Given the description of an element on the screen output the (x, y) to click on. 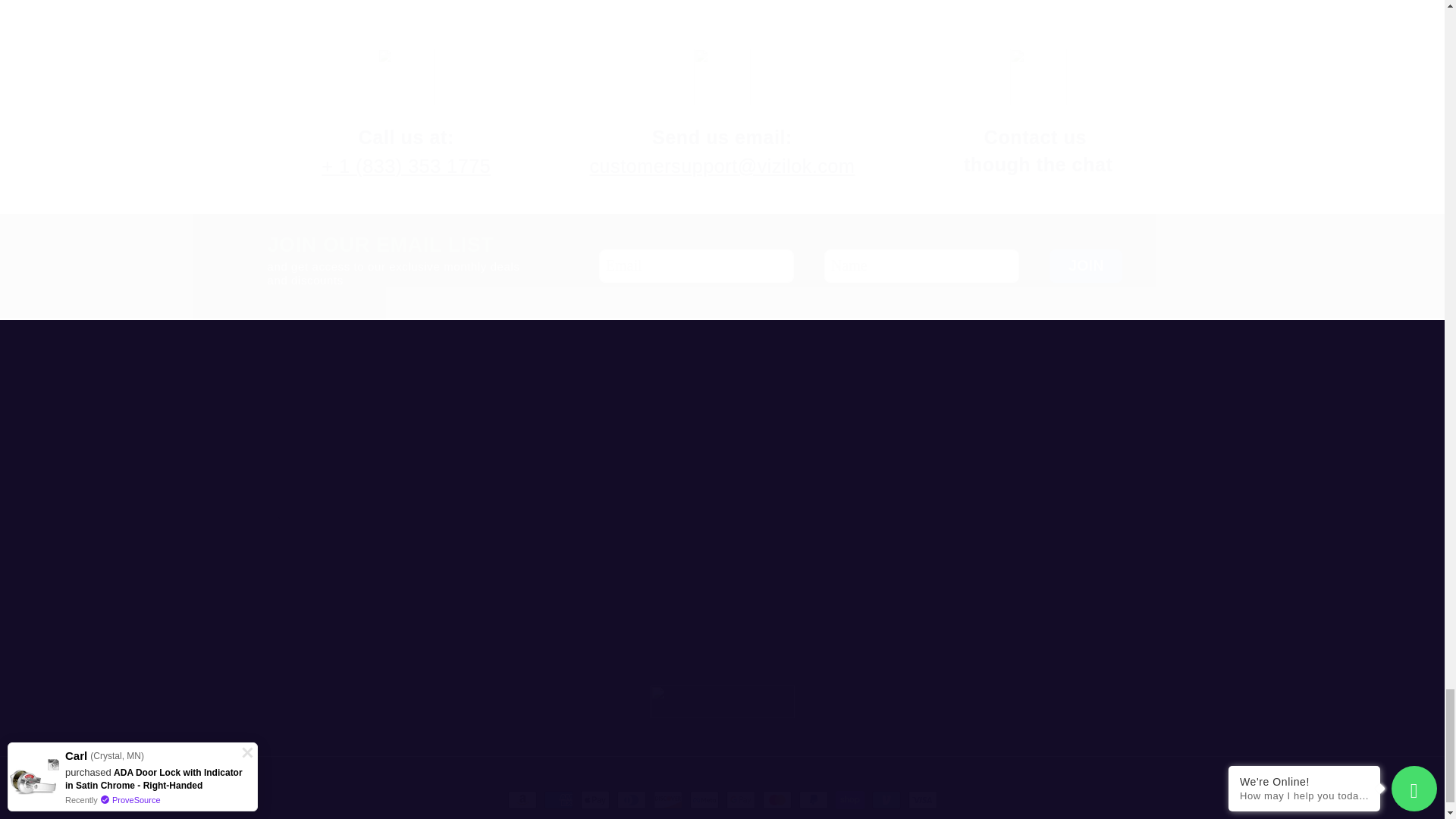
Join (1085, 265)
